Given the description of an element on the screen output the (x, y) to click on. 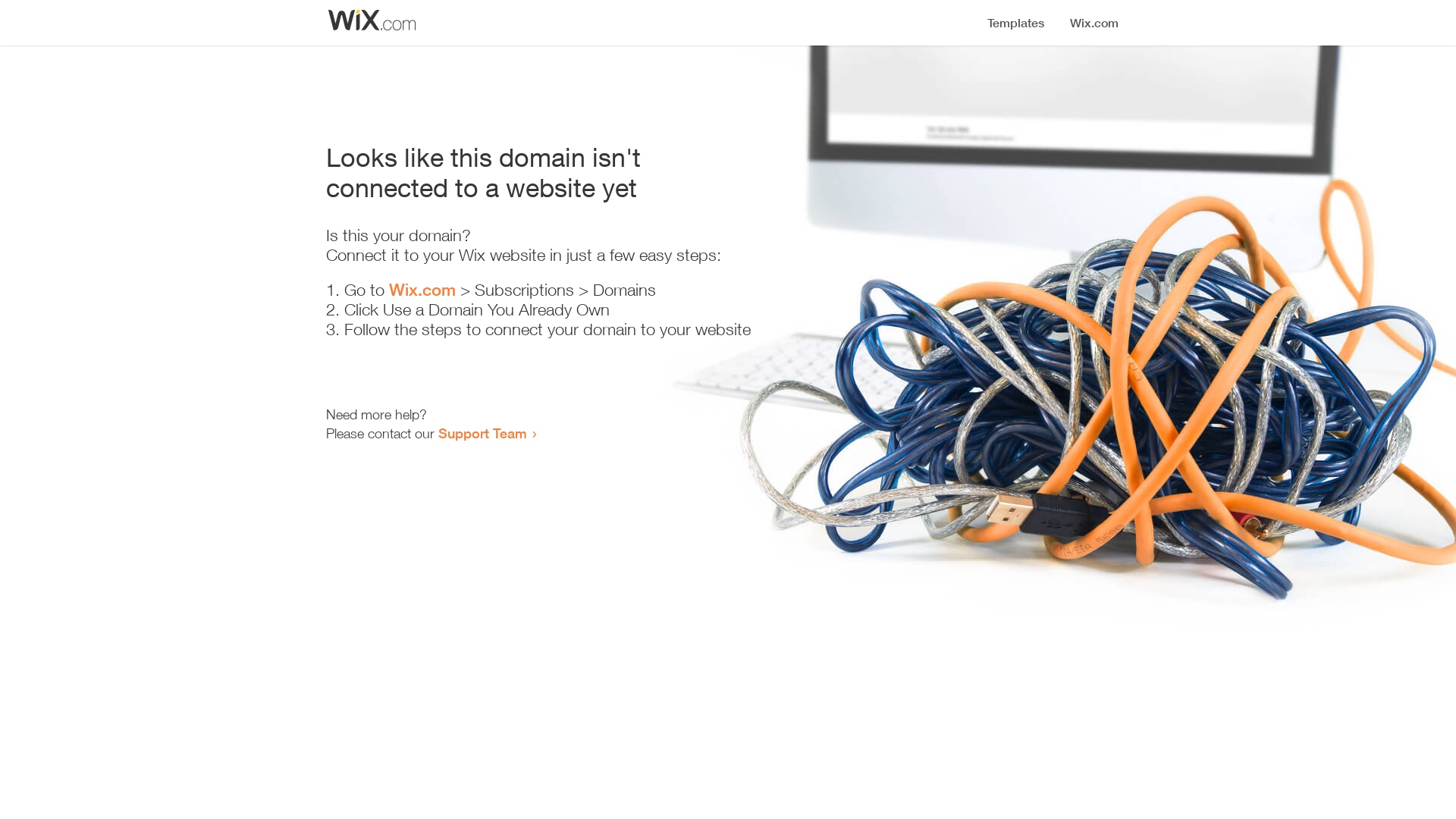
Support Team Element type: text (482, 432)
Wix.com Element type: text (422, 289)
